Given the description of an element on the screen output the (x, y) to click on. 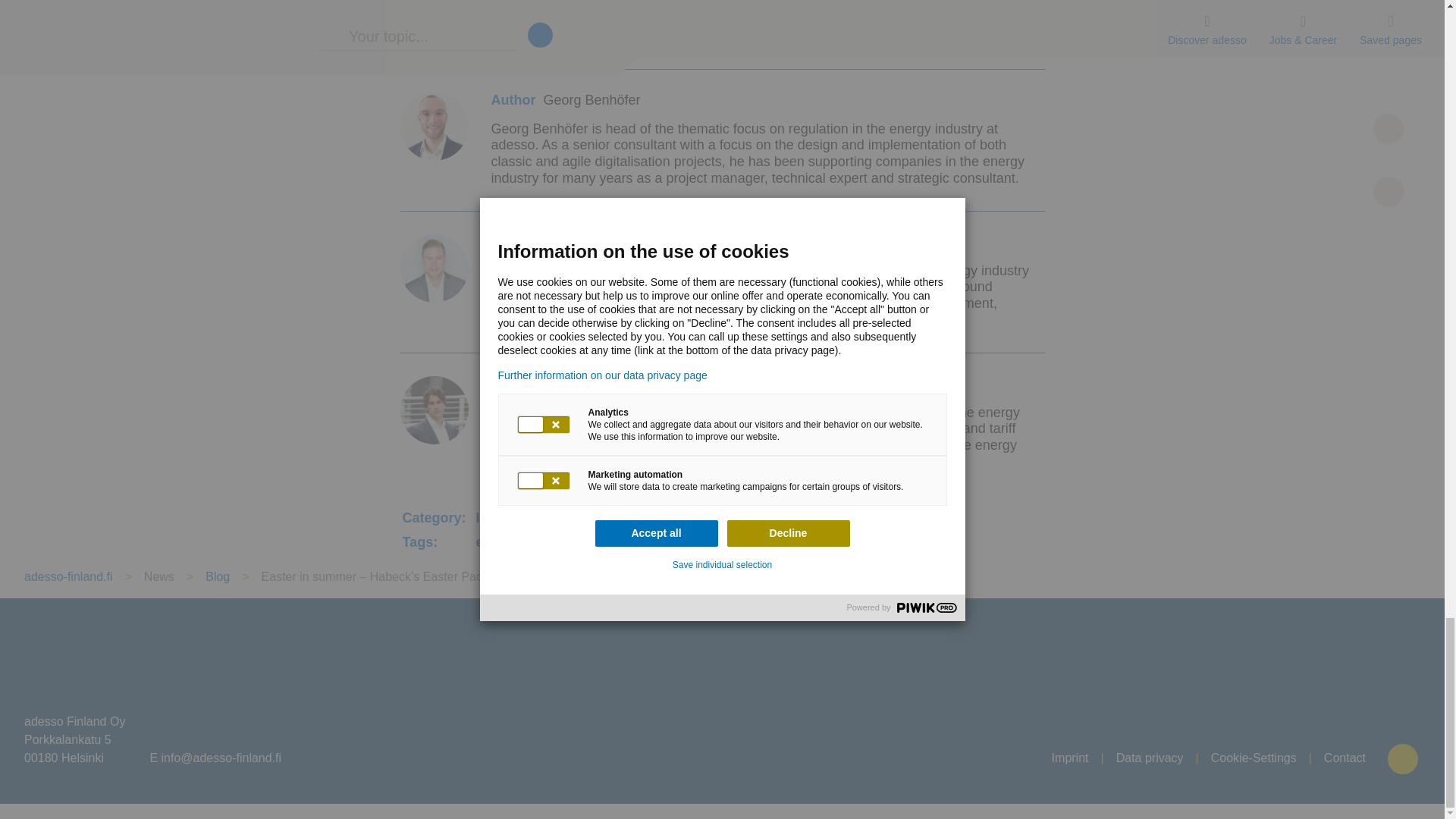
Picture Stephen Lorenzen (434, 268)
Picture Lars  Zimmermann  (434, 409)
